Given the description of an element on the screen output the (x, y) to click on. 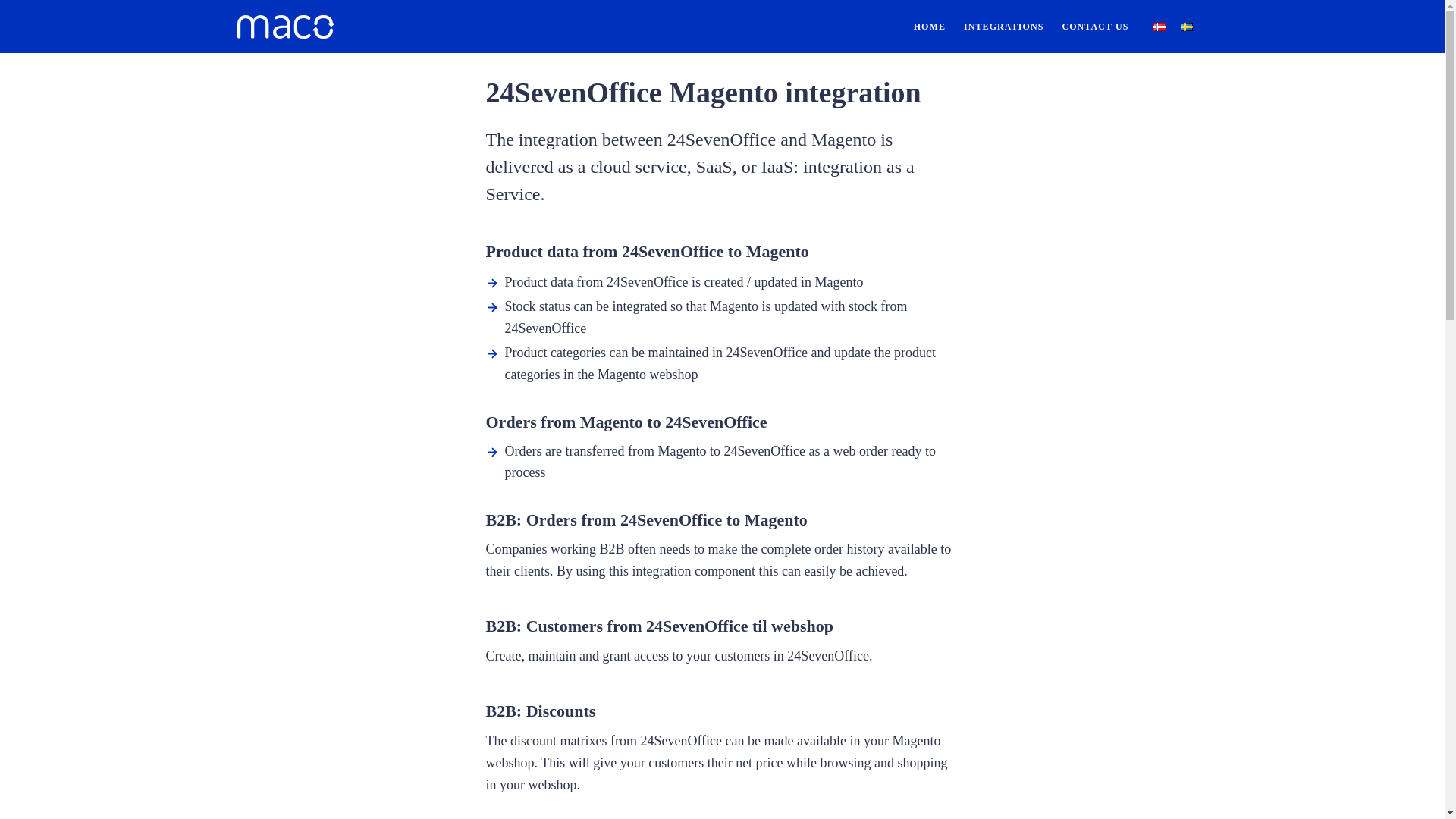
INTEGRATIONS (1003, 26)
CONTACT US (1094, 26)
HOME (929, 26)
